Given the description of an element on the screen output the (x, y) to click on. 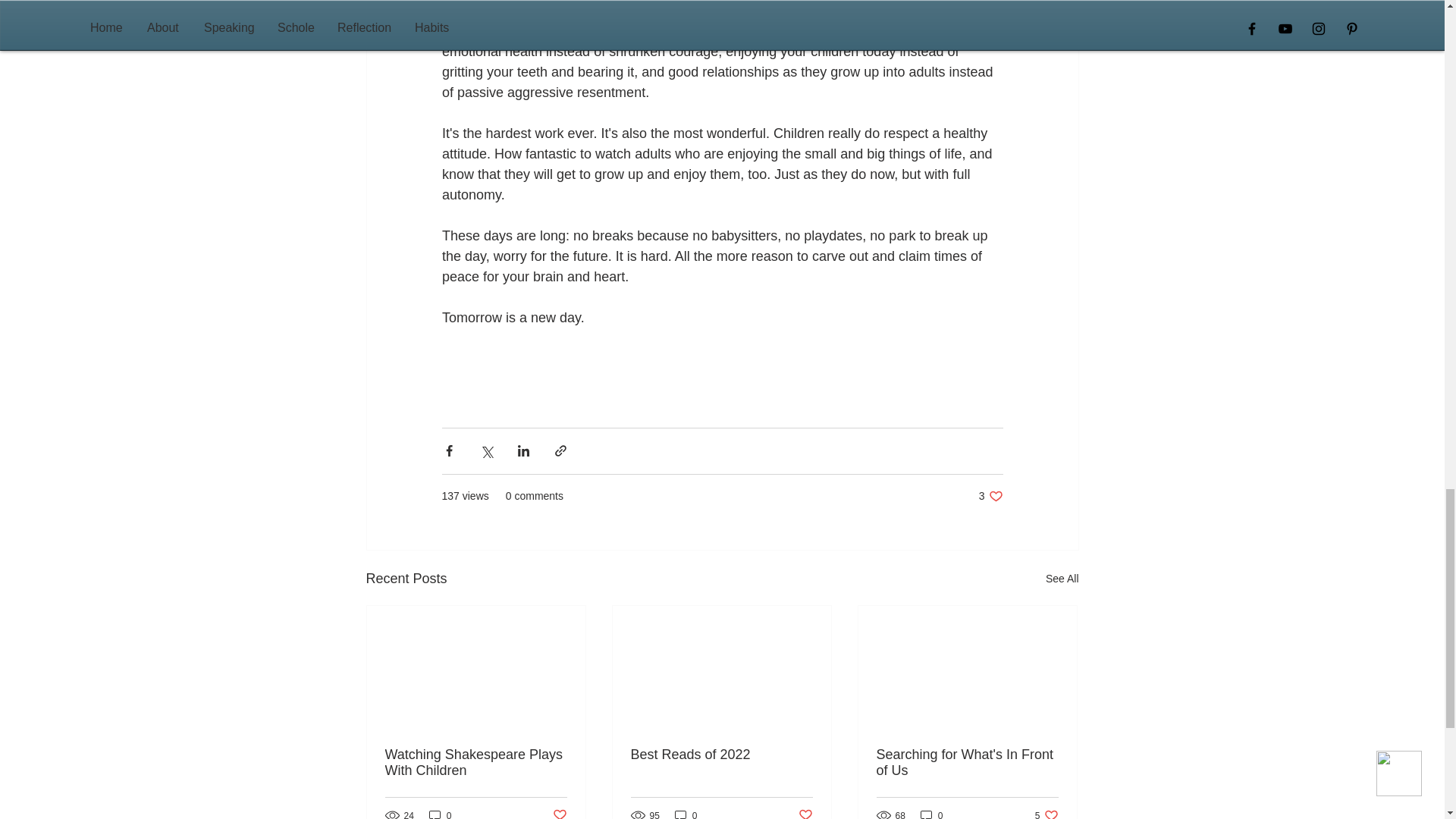
See All (990, 495)
Post not marked as liked (1061, 578)
Best Reads of 2022 (558, 813)
Post not marked as liked (1046, 813)
Watching Shakespeare Plays With Children (721, 754)
0 (804, 813)
0 (476, 762)
Searching for What's In Front of Us (440, 813)
